Given the description of an element on the screen output the (x, y) to click on. 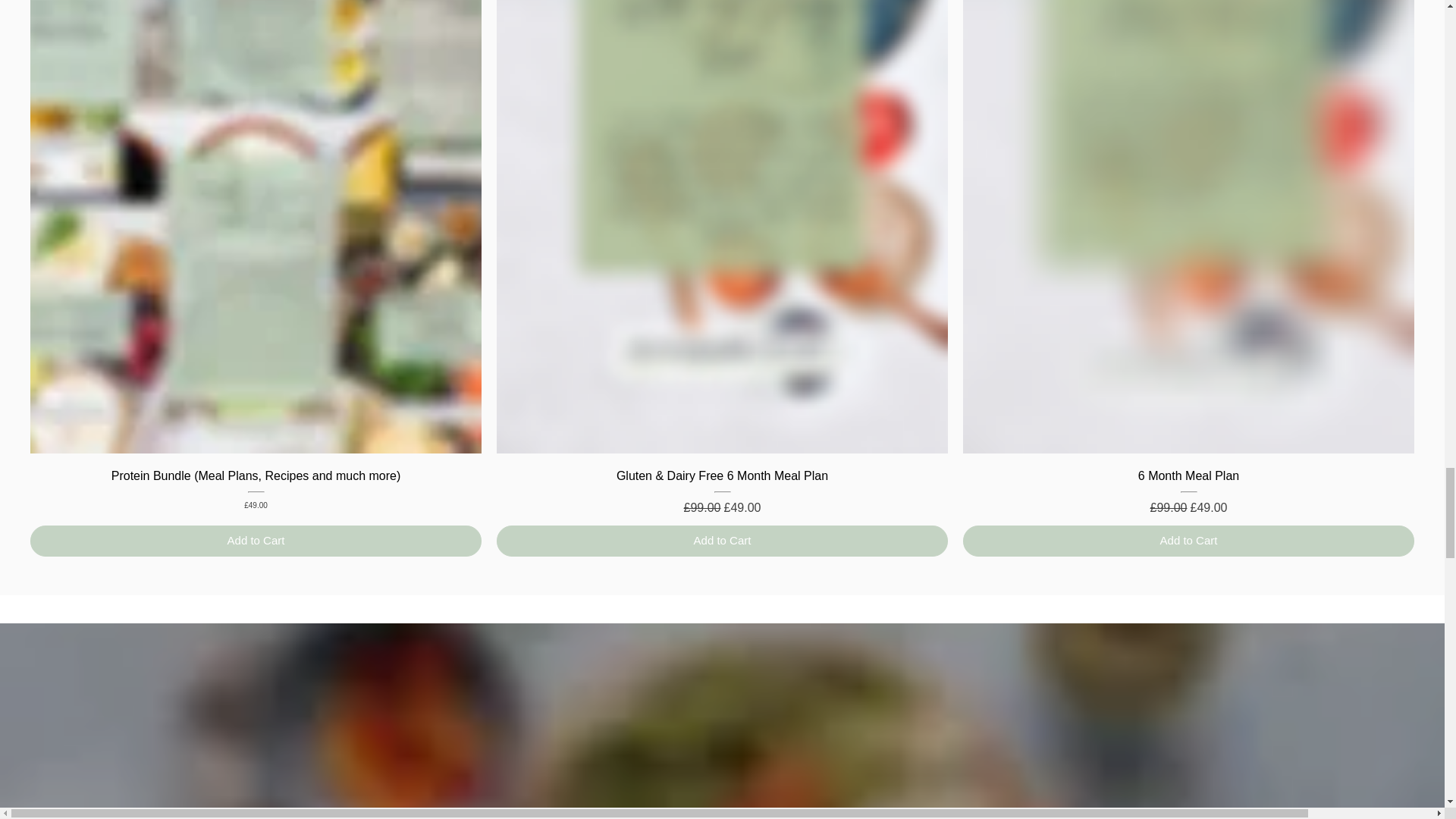
Add to Cart (255, 540)
Add to Cart (1187, 540)
Add to Cart (721, 540)
